Given the description of an element on the screen output the (x, y) to click on. 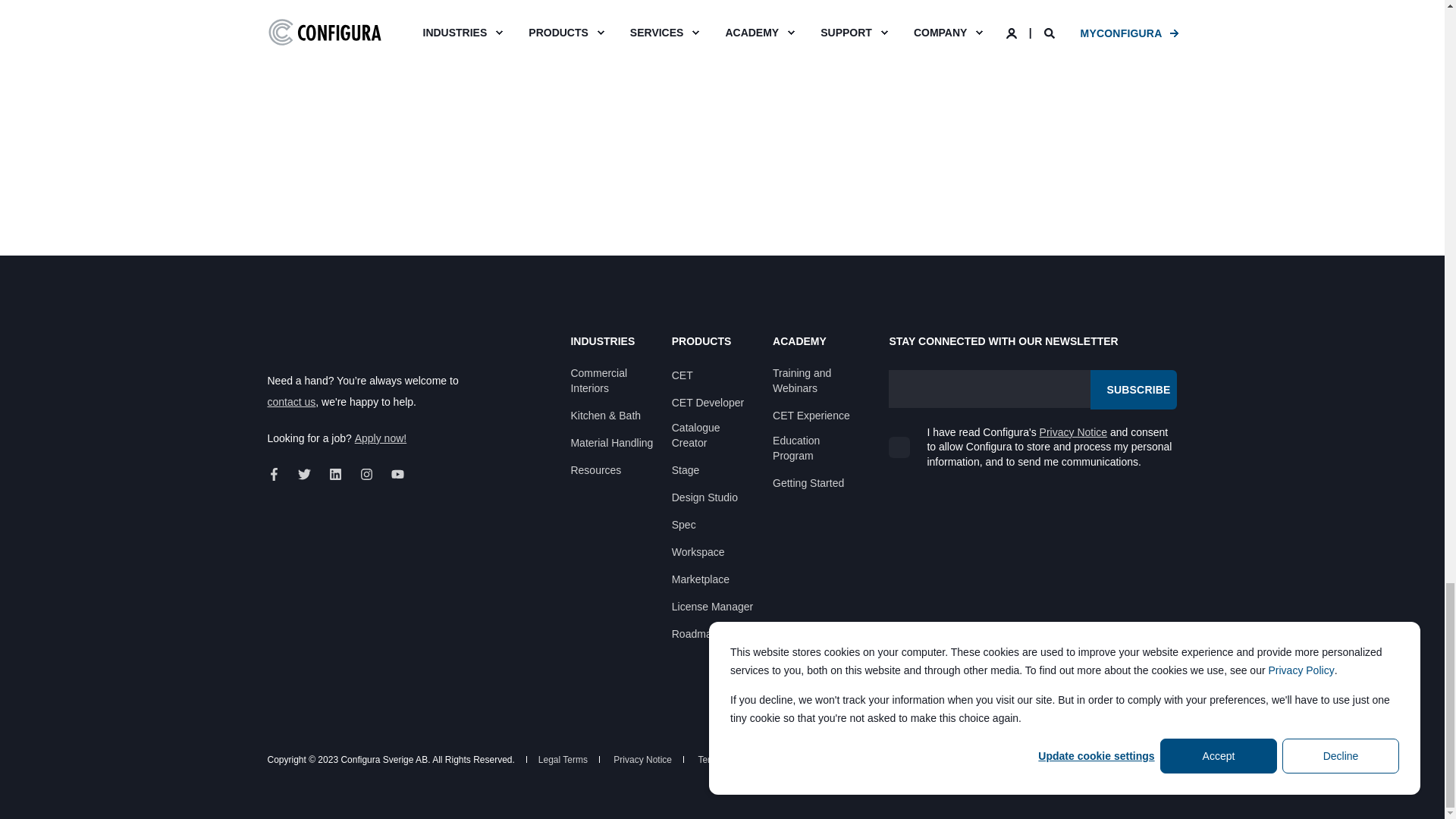
Subscribe (1133, 389)
